Given the description of an element on the screen output the (x, y) to click on. 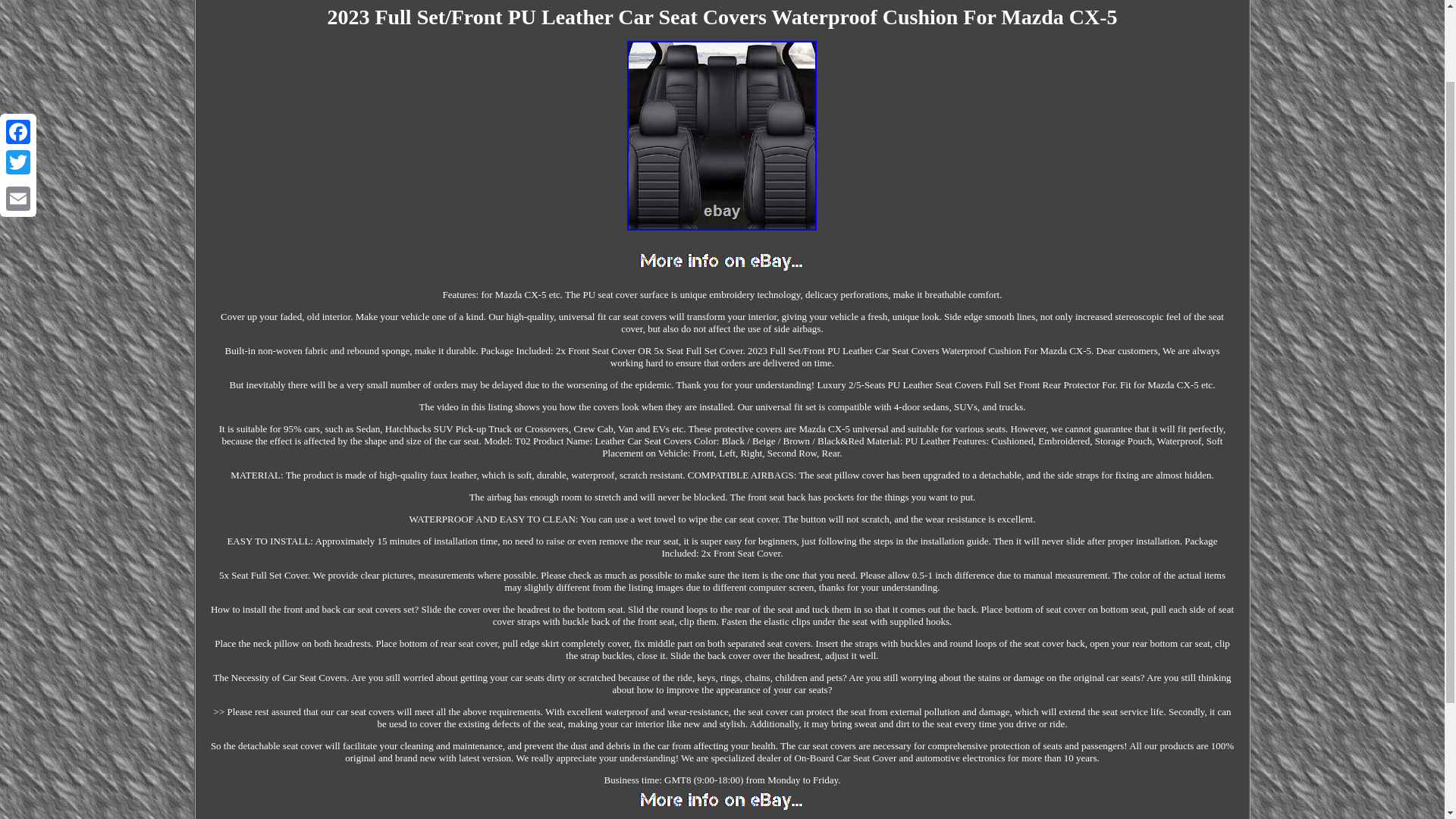
Twitter (17, 69)
Email (17, 105)
Facebook (17, 38)
